Given the description of an element on the screen output the (x, y) to click on. 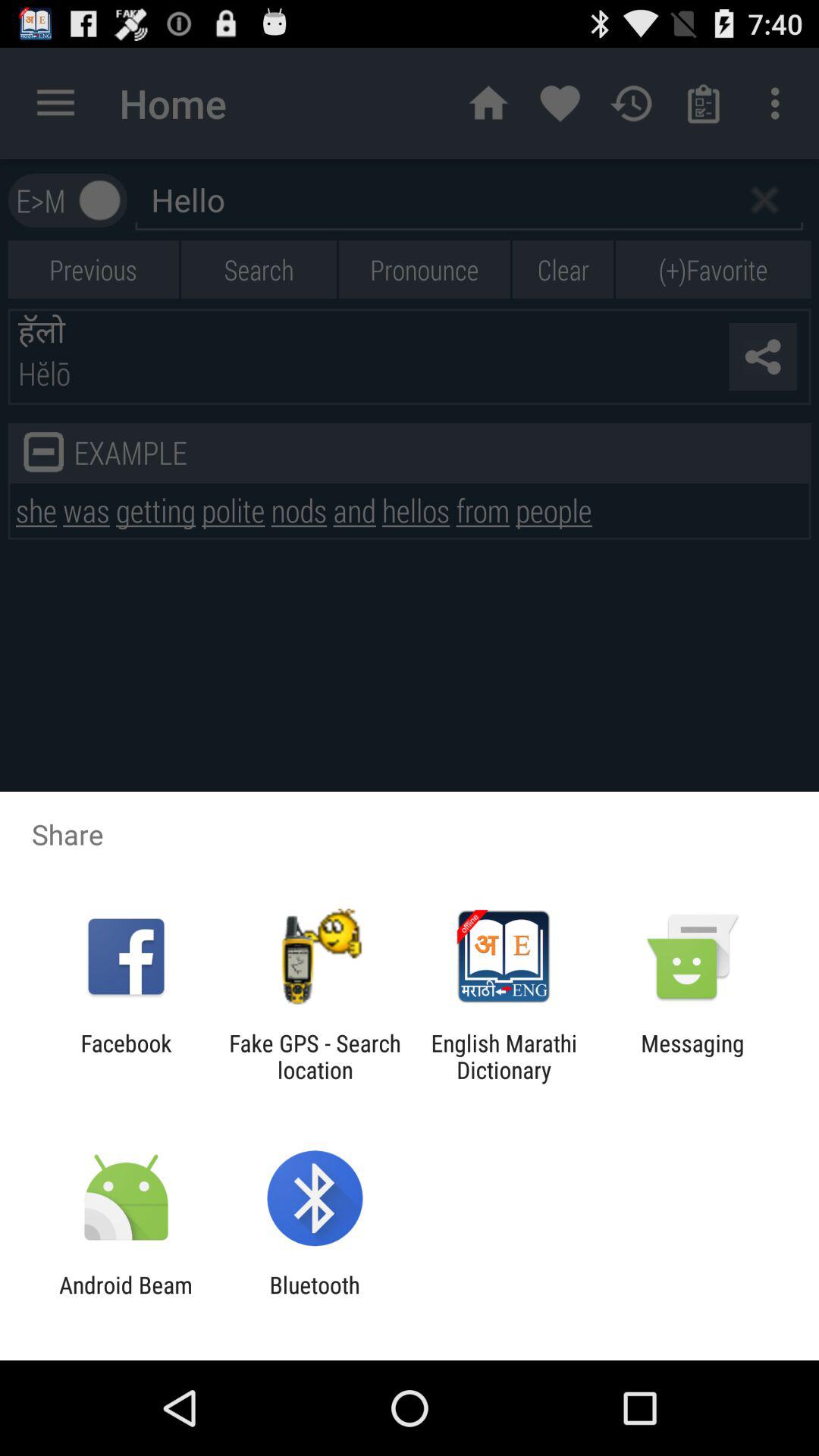
launch english marathi dictionary item (503, 1056)
